Given the description of an element on the screen output the (x, y) to click on. 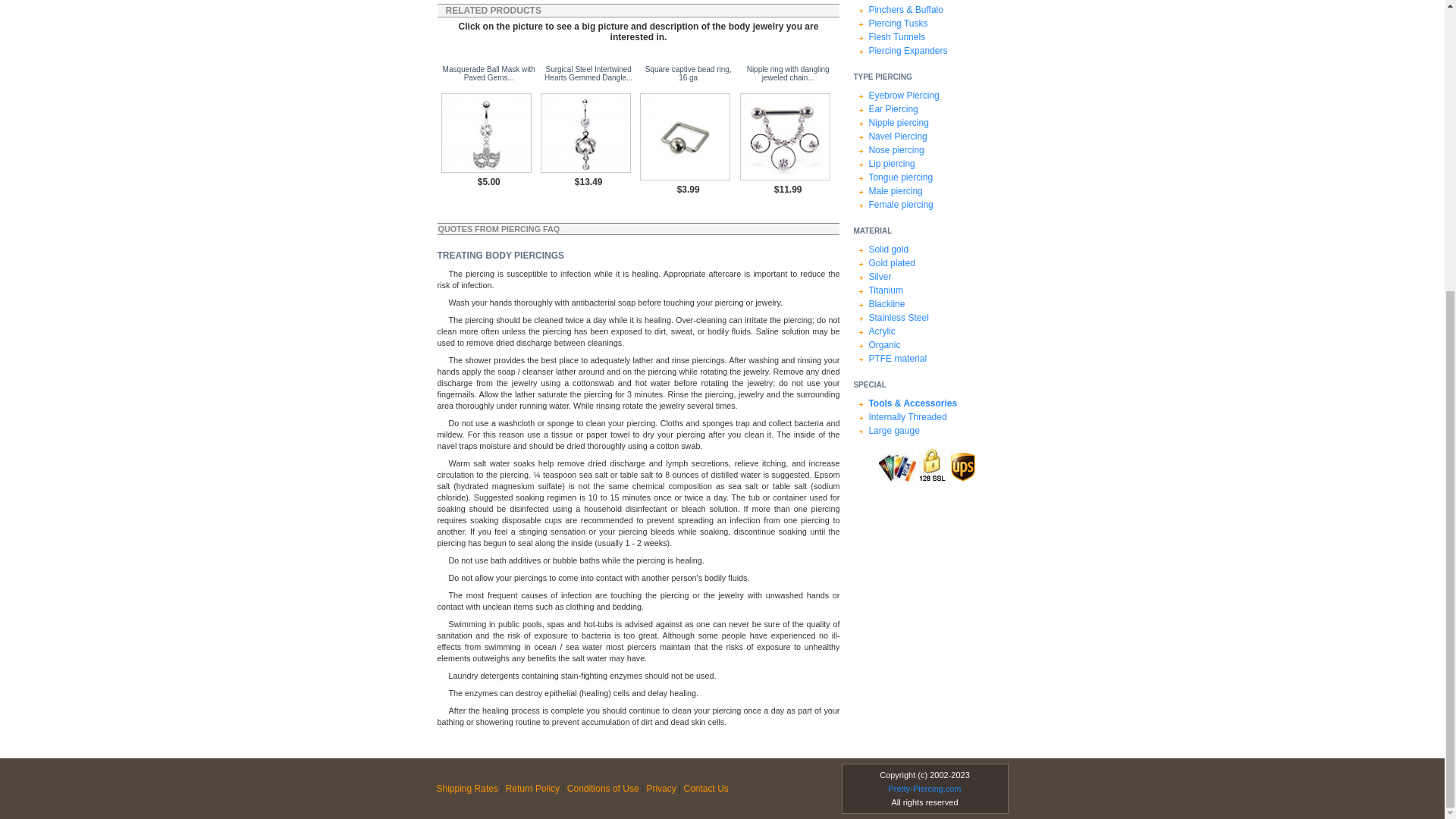
Solid gold (936, 249)
Navel Piercing (936, 136)
Ear Piercing (936, 109)
Eyebrow Piercing (936, 95)
Flesh Tunnels, Plugs (936, 37)
Tongue piercing (936, 177)
Nipple Body Jewelry (936, 122)
Piercing Expanders (936, 50)
Nipple piercing (936, 122)
Silver (936, 276)
